Given the description of an element on the screen output the (x, y) to click on. 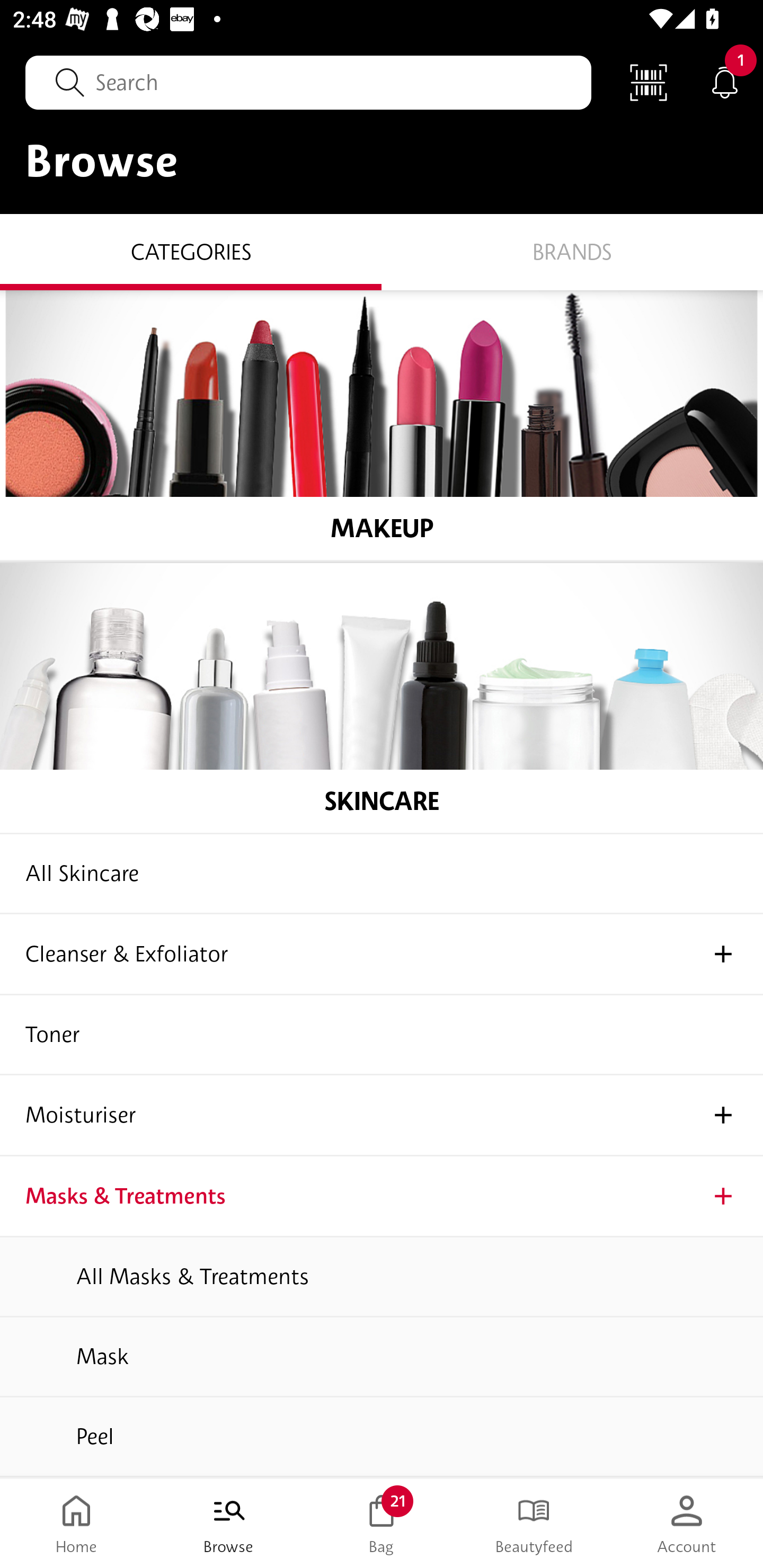
Scan Code (648, 81)
Notifications (724, 81)
Search (308, 81)
Brands BRANDS (572, 251)
MAKEUP (381, 425)
All Skincare (381, 874)
Cleanser & Exfoliator (381, 954)
Toner (381, 1035)
Moisturiser (381, 1116)
All Masks & Treatments (381, 1277)
Mask (381, 1357)
Peel (381, 1437)
Home (76, 1523)
Bag 21 Bag (381, 1523)
Beautyfeed (533, 1523)
Account (686, 1523)
